Given the description of an element on the screen output the (x, y) to click on. 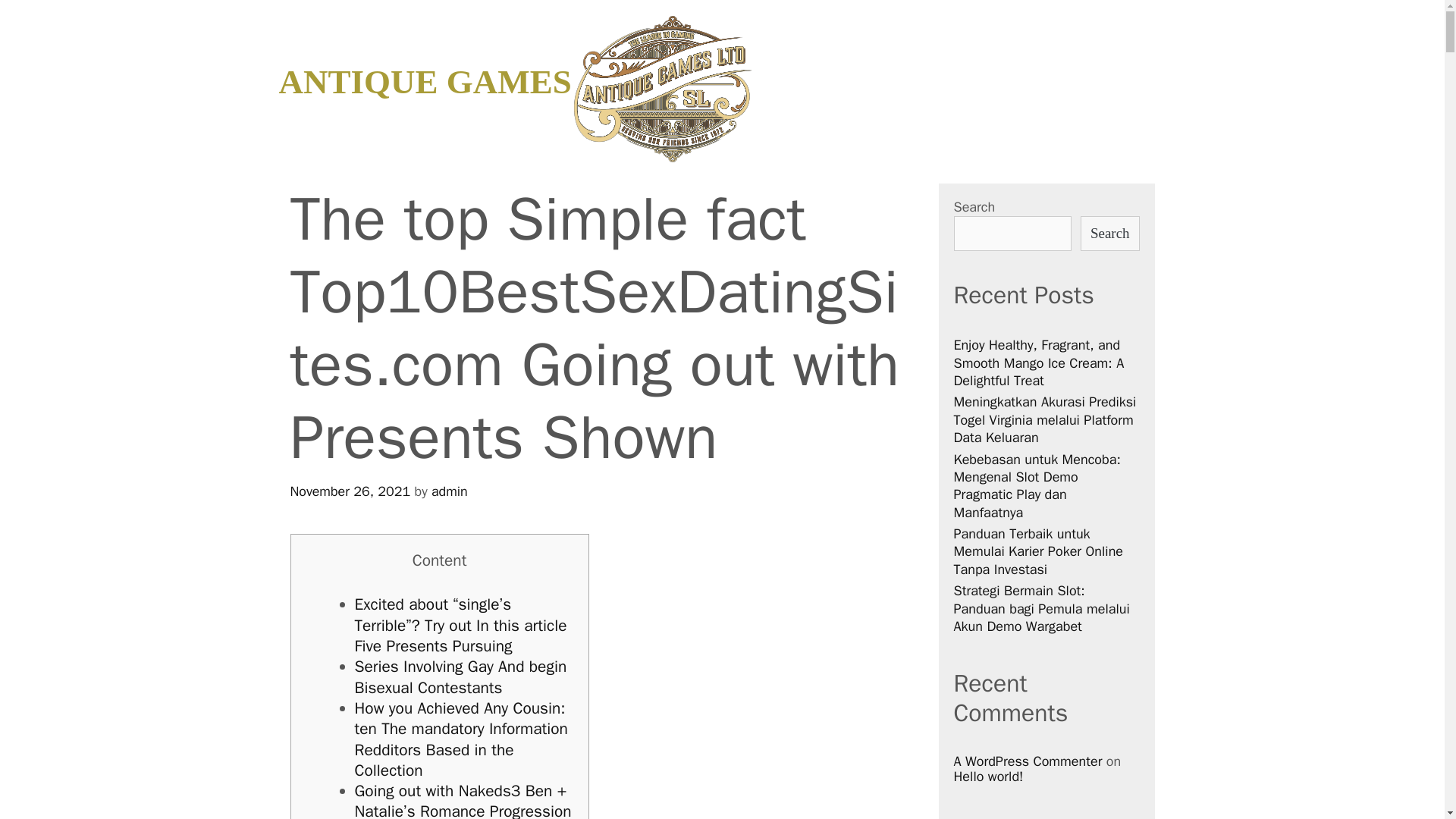
Hello world! (988, 776)
A WordPress Commenter (1027, 760)
ANTIQUE GAMES (425, 81)
View all posts by admin (448, 491)
8:24 pm (349, 491)
Search (1109, 233)
admin (448, 491)
Antique Games  (663, 87)
November 26, 2021 (349, 491)
Series Involving Gay And begin Bisexual Contestants (461, 676)
Search (35, 19)
